Given the description of an element on the screen output the (x, y) to click on. 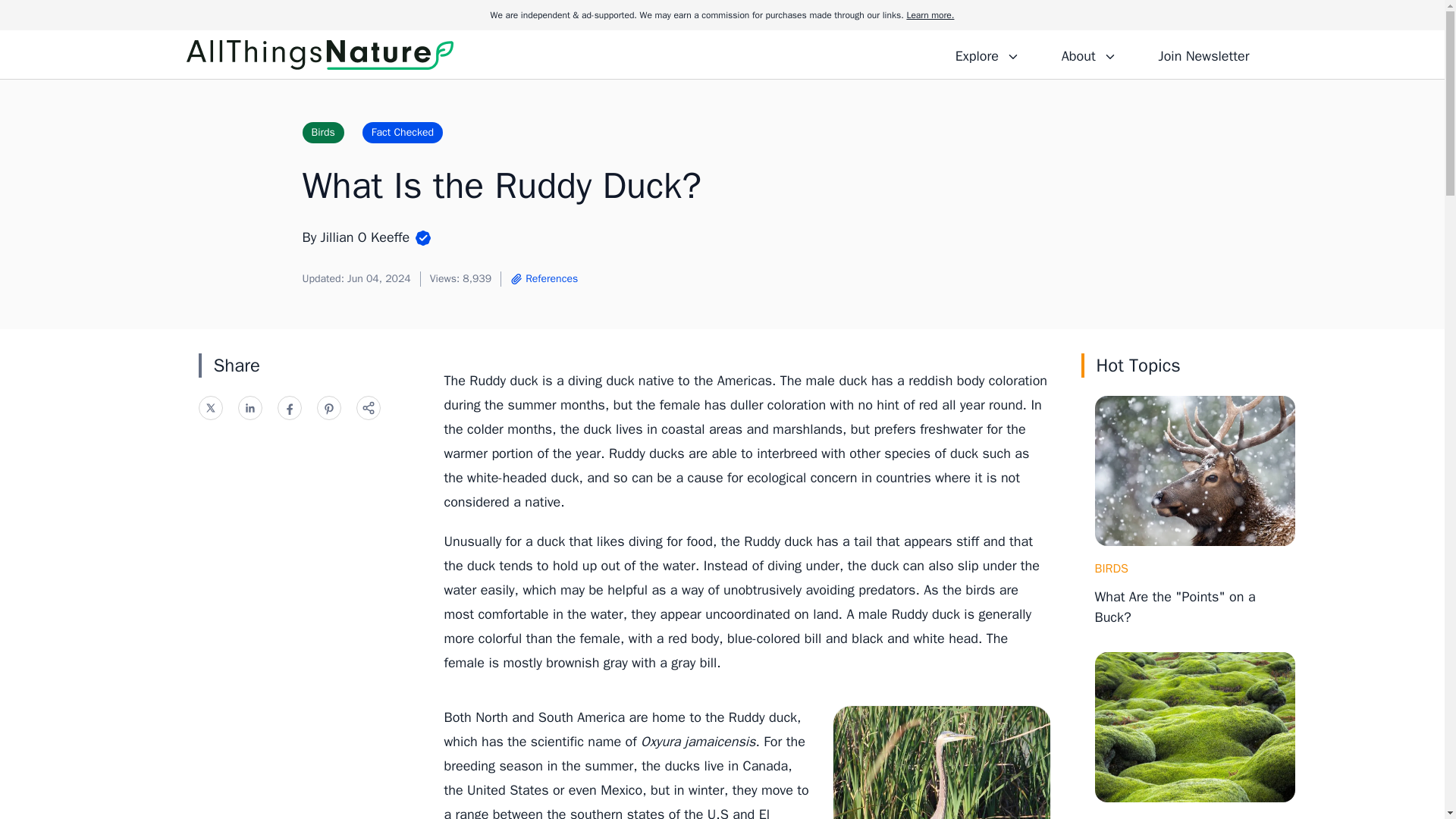
Learn more. (929, 15)
Join Newsletter (1202, 54)
Explore (986, 54)
References (543, 278)
About (1088, 54)
Birds (322, 132)
Fact Checked (402, 132)
